Given the description of an element on the screen output the (x, y) to click on. 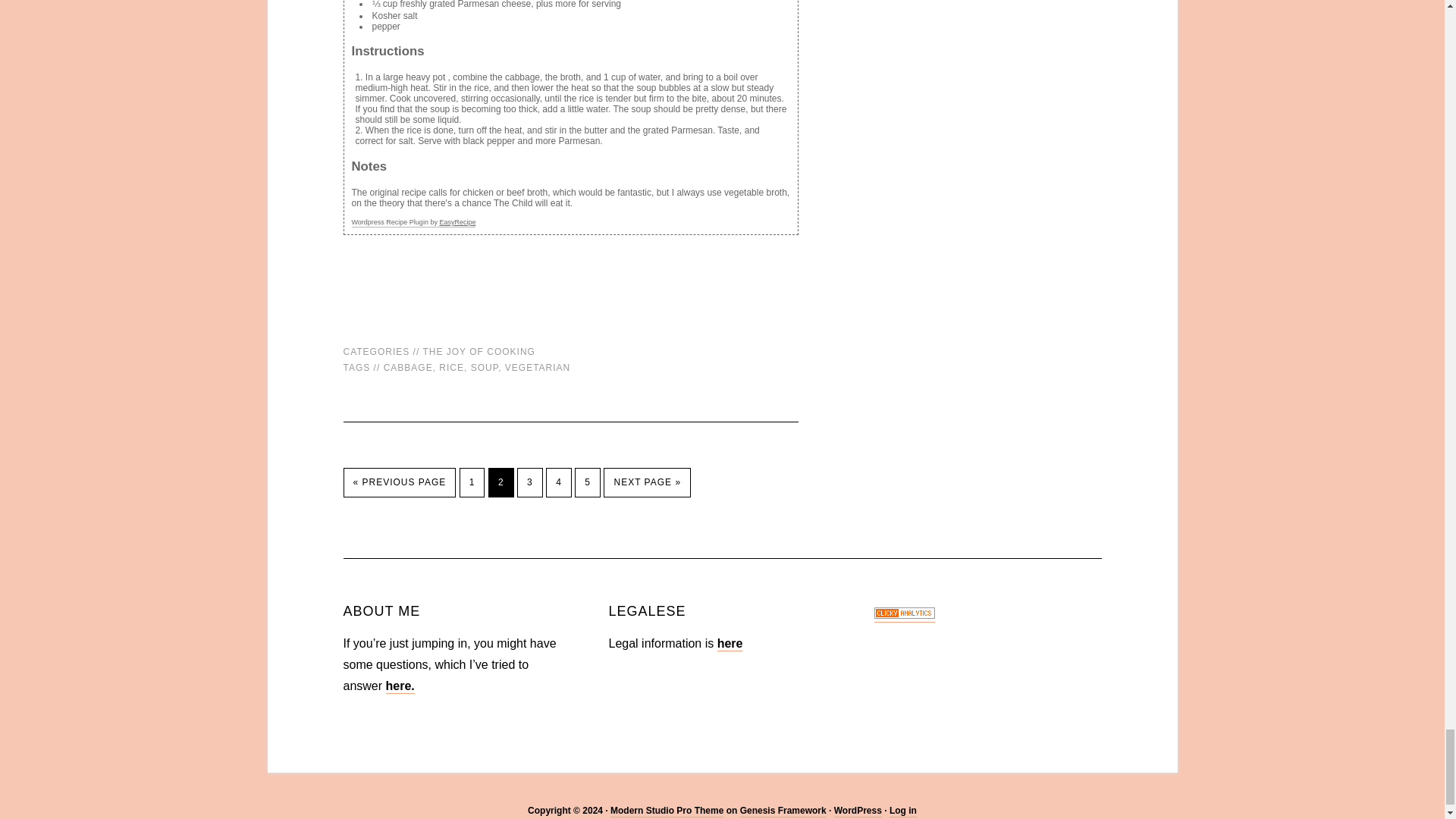
EasyRecipe Wordpress Recipe Plugin (414, 222)
Web Analytics (903, 615)
